Given the description of an element on the screen output the (x, y) to click on. 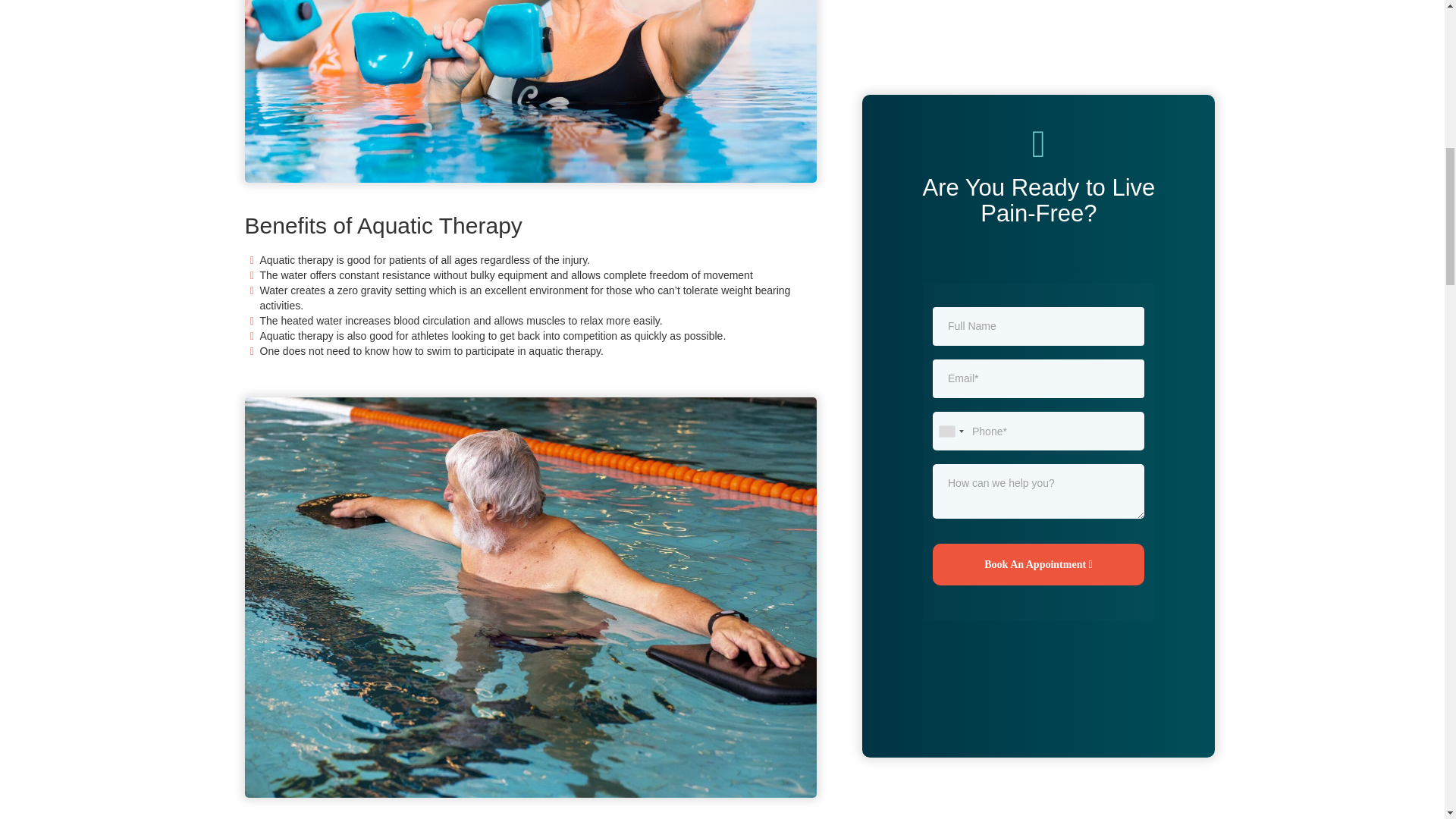
Aquatic Therapy (1038, 89)
aquatic therapy group session (530, 91)
